Given the description of an element on the screen output the (x, y) to click on. 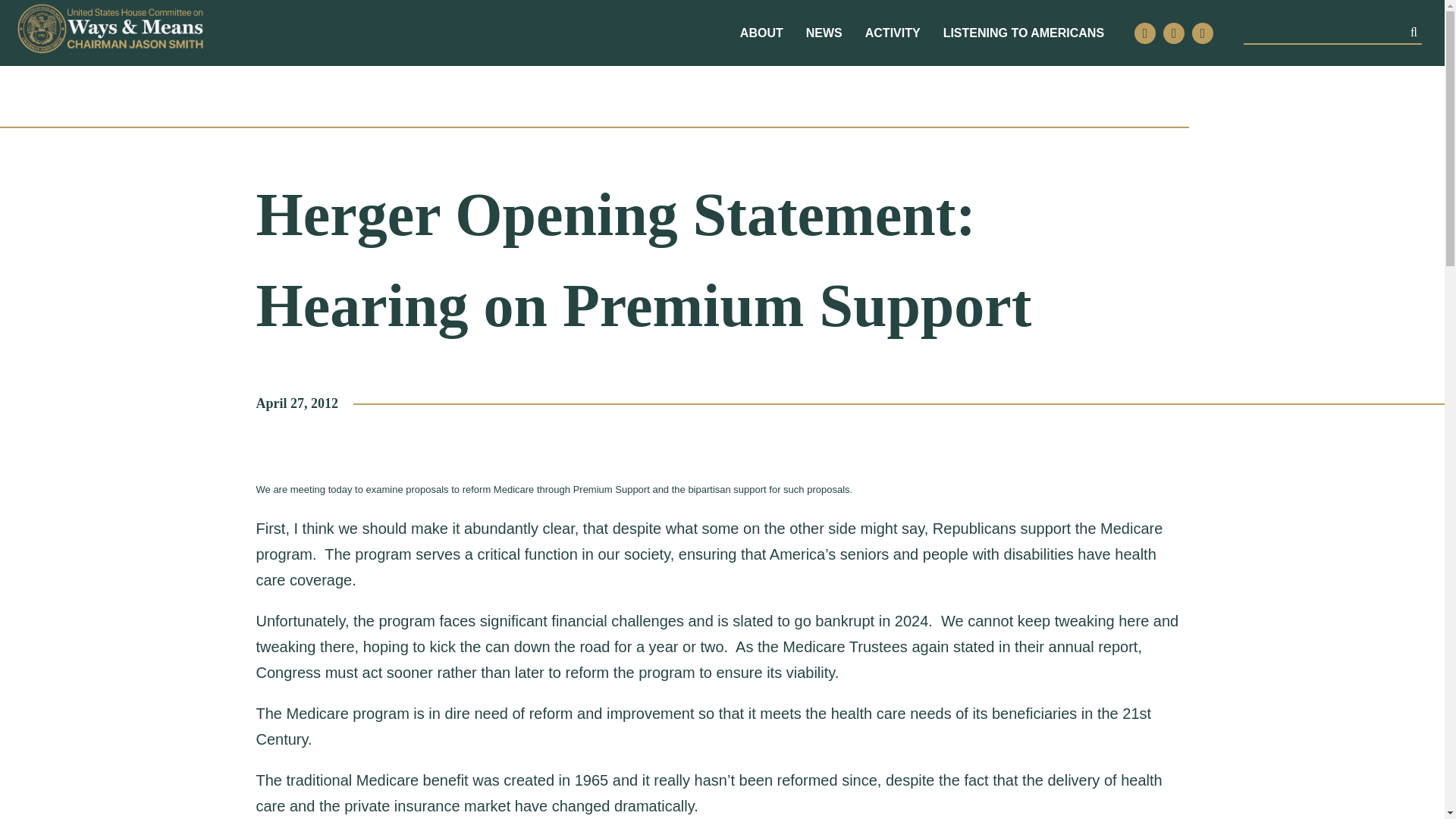
LISTENING TO AMERICANS (1023, 33)
ACTIVITY (892, 33)
Twitter (1145, 33)
ABOUT (761, 33)
Youtube (1202, 33)
Instagram (1174, 33)
NEWS (824, 33)
